Given the description of an element on the screen output the (x, y) to click on. 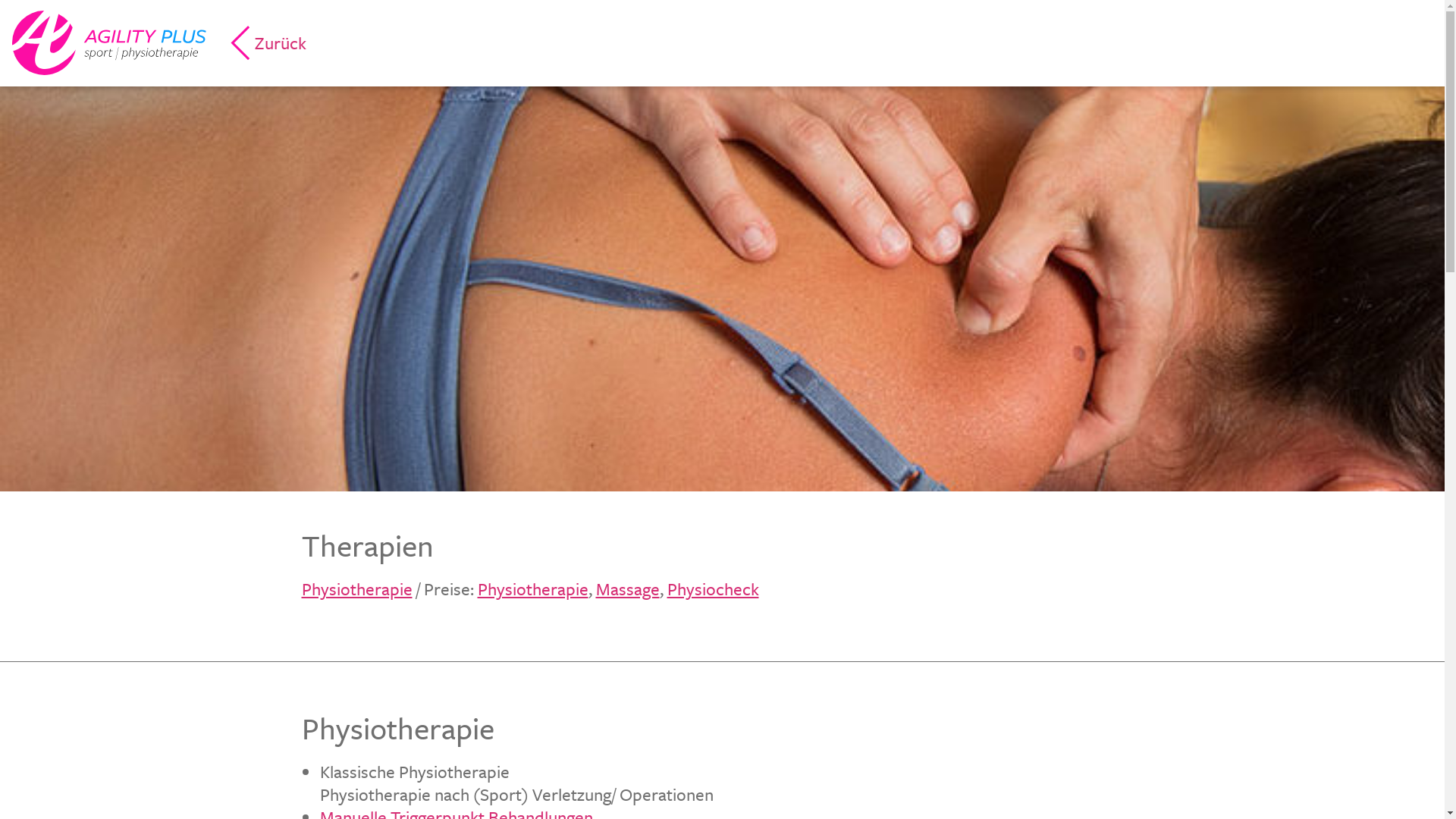
Physiotherapie Element type: text (532, 588)
Physiotherapie Element type: text (356, 588)
Physiocheck Element type: text (713, 588)
Massage Element type: text (627, 588)
